Given the description of an element on the screen output the (x, y) to click on. 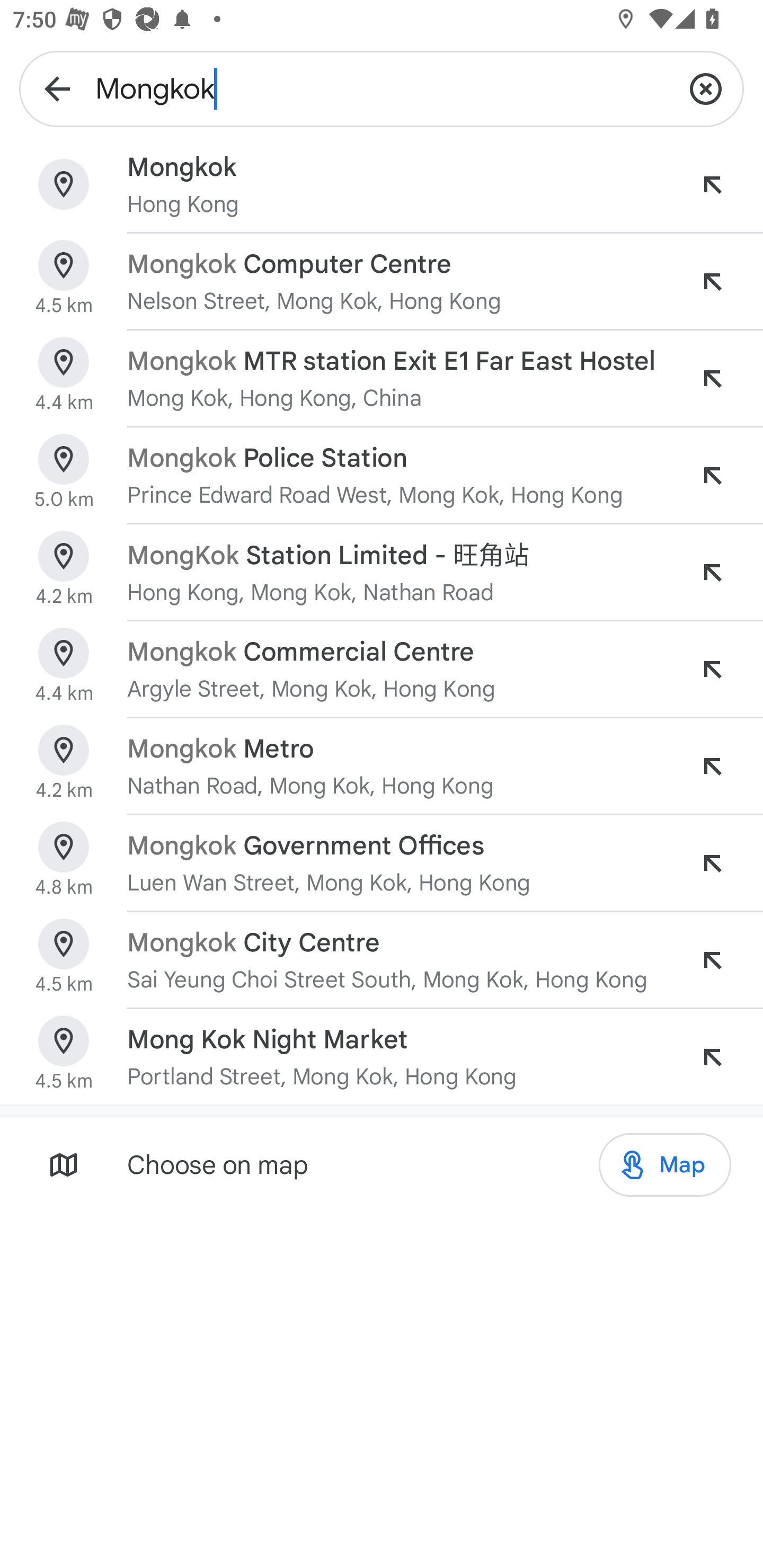
Navigate up (57, 88)
Mongkok (381, 88)
Clear (705, 88)
Choose on map Map Map Map (381, 1164)
Map Map Map (664, 1164)
